Given the description of an element on the screen output the (x, y) to click on. 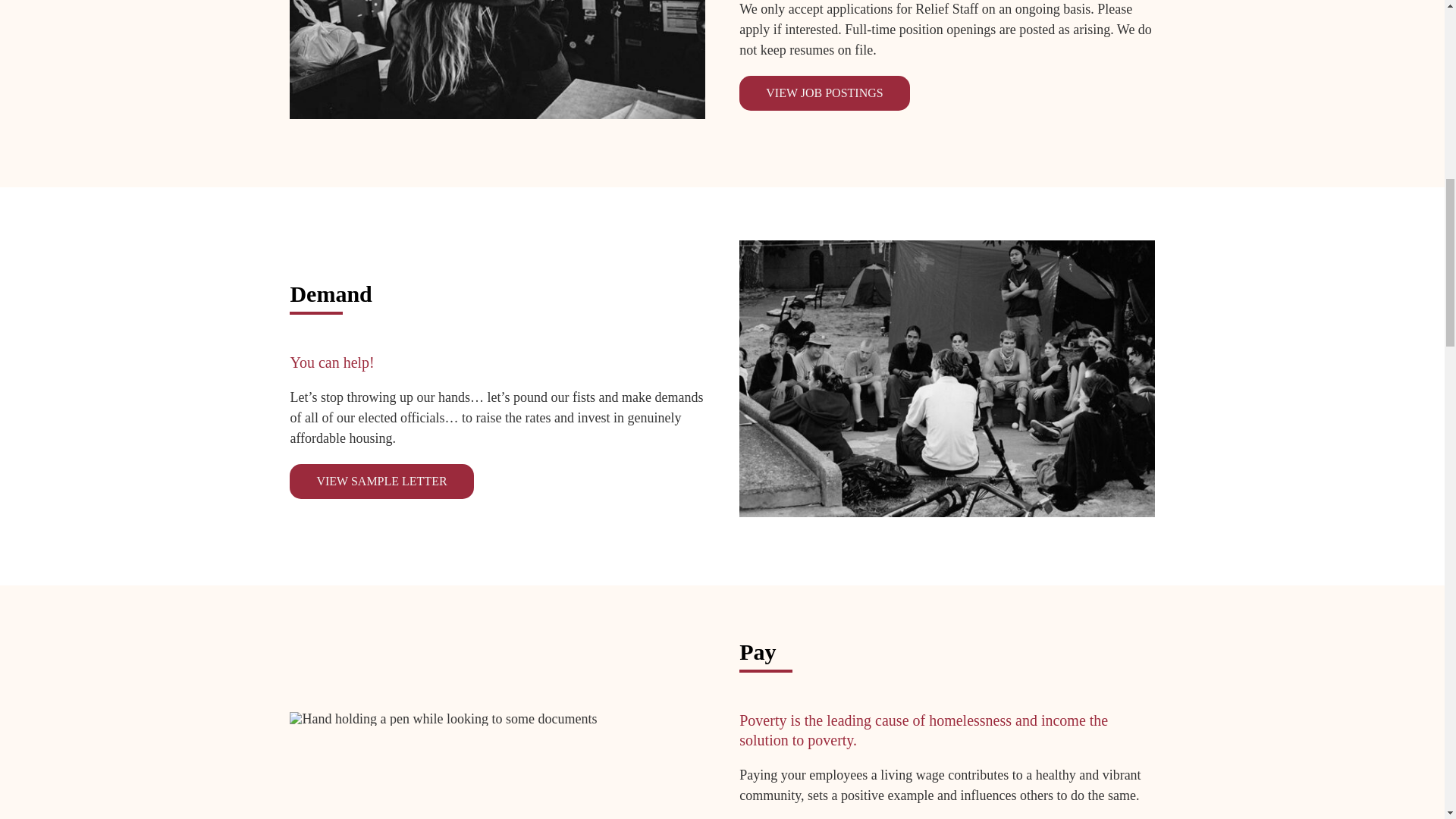
Pay (442, 718)
Demand (946, 378)
Work at Unity Project (496, 59)
